Given the description of an element on the screen output the (x, y) to click on. 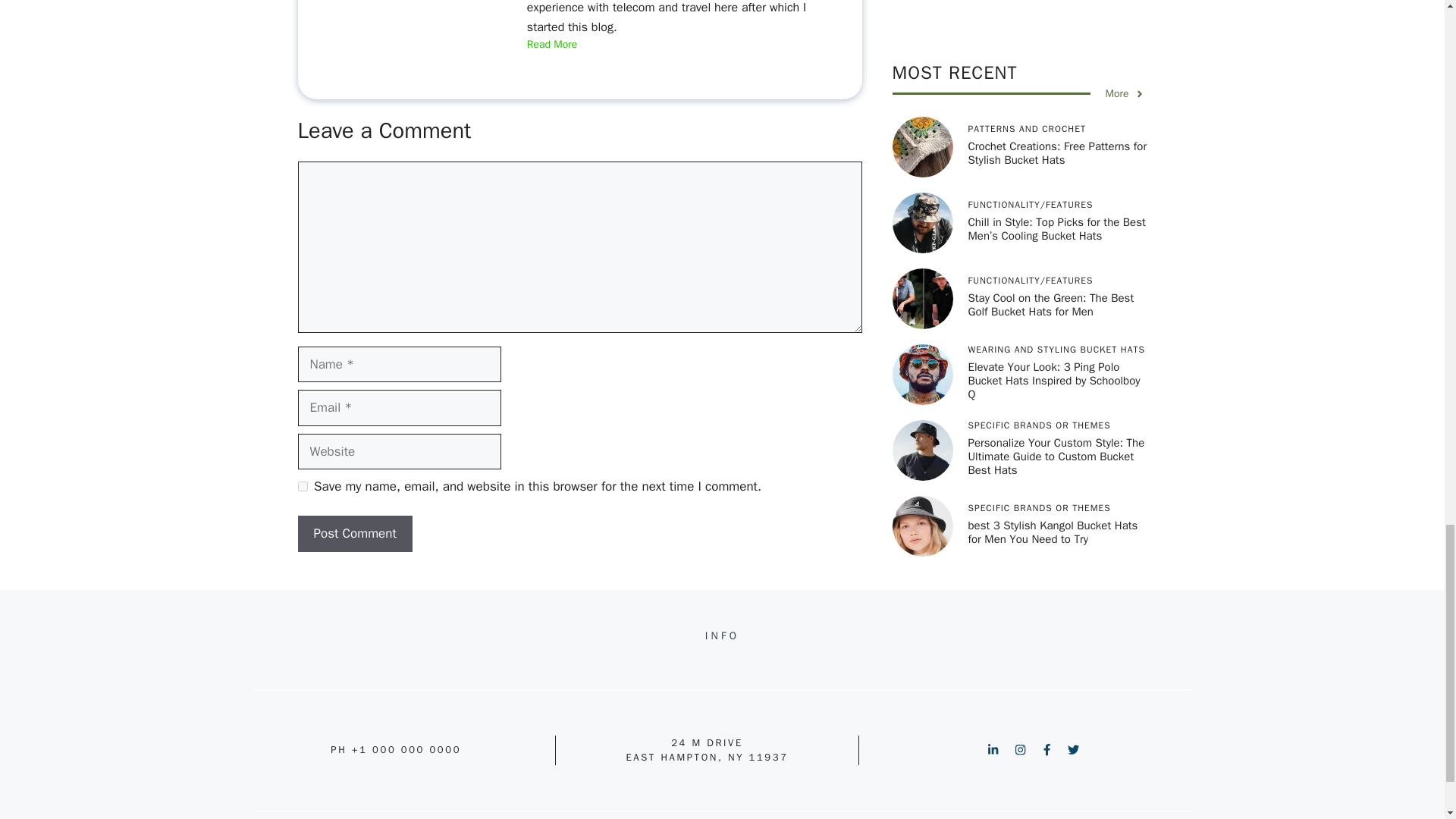
Read more about this author (552, 44)
yes (302, 486)
Post Comment (354, 533)
Read More (552, 44)
Post Comment (354, 533)
